Given the description of an element on the screen output the (x, y) to click on. 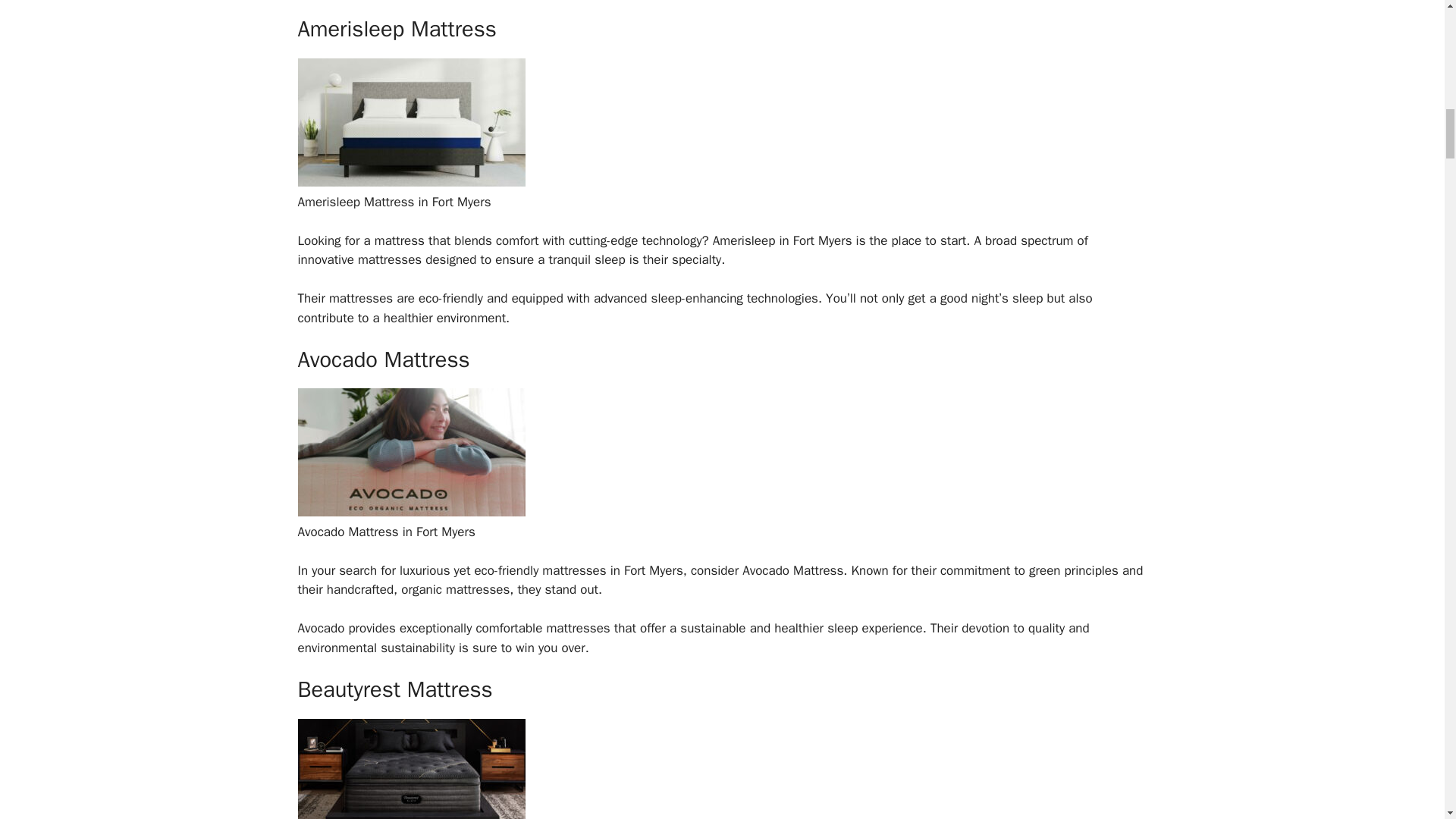
Amerisleep Mattress Fort Myers (410, 182)
Avocado Mattress Fort Myers (410, 512)
